Given the description of an element on the screen output the (x, y) to click on. 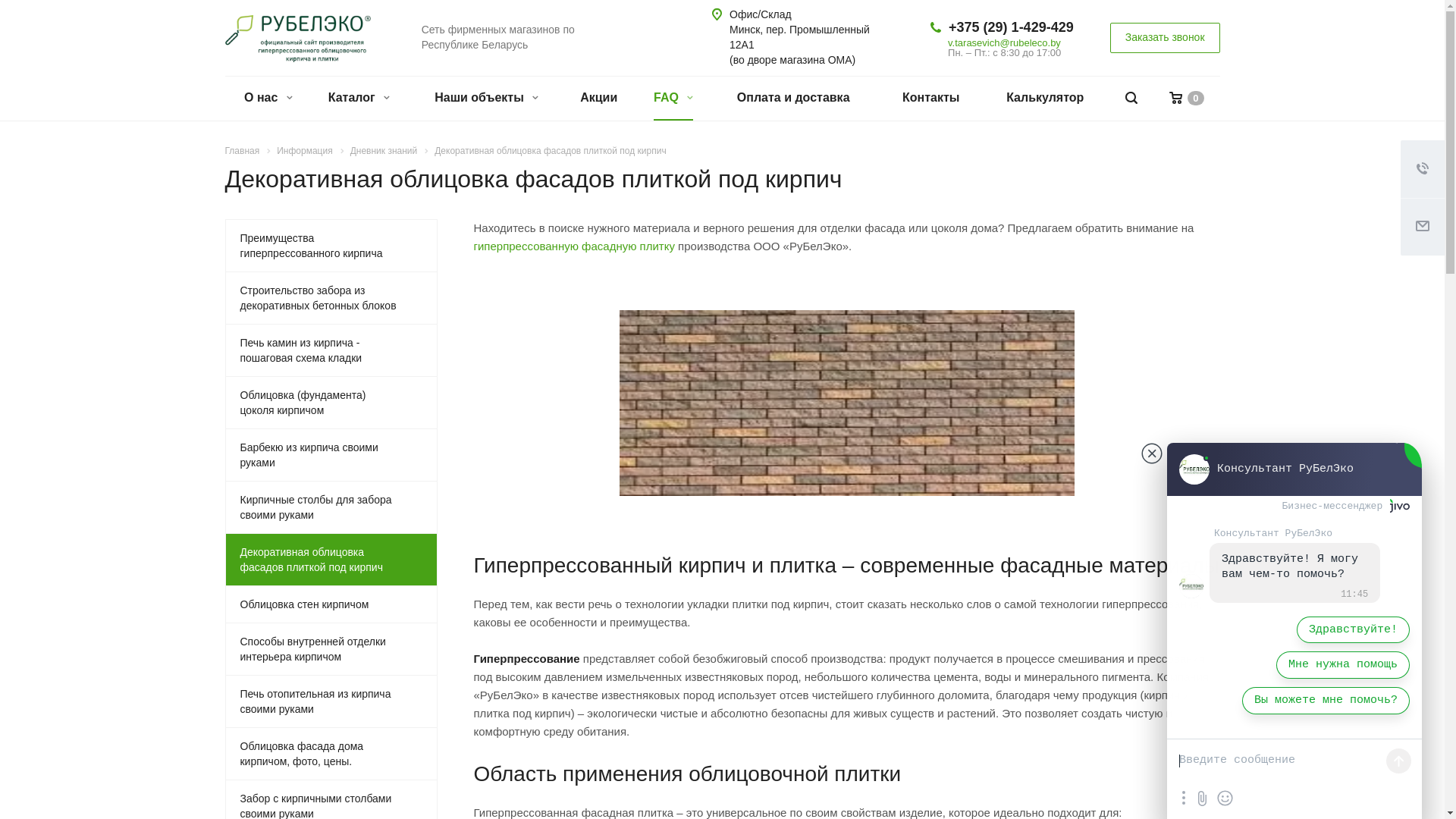
v.tarasevich@rubeleco.by Element type: text (1003, 42)
FAQ Element type: text (670, 97)
+375 (29) 1-429-429 Element type: text (1010, 26)
0 Element type: text (1186, 97)
